Given the description of an element on the screen output the (x, y) to click on. 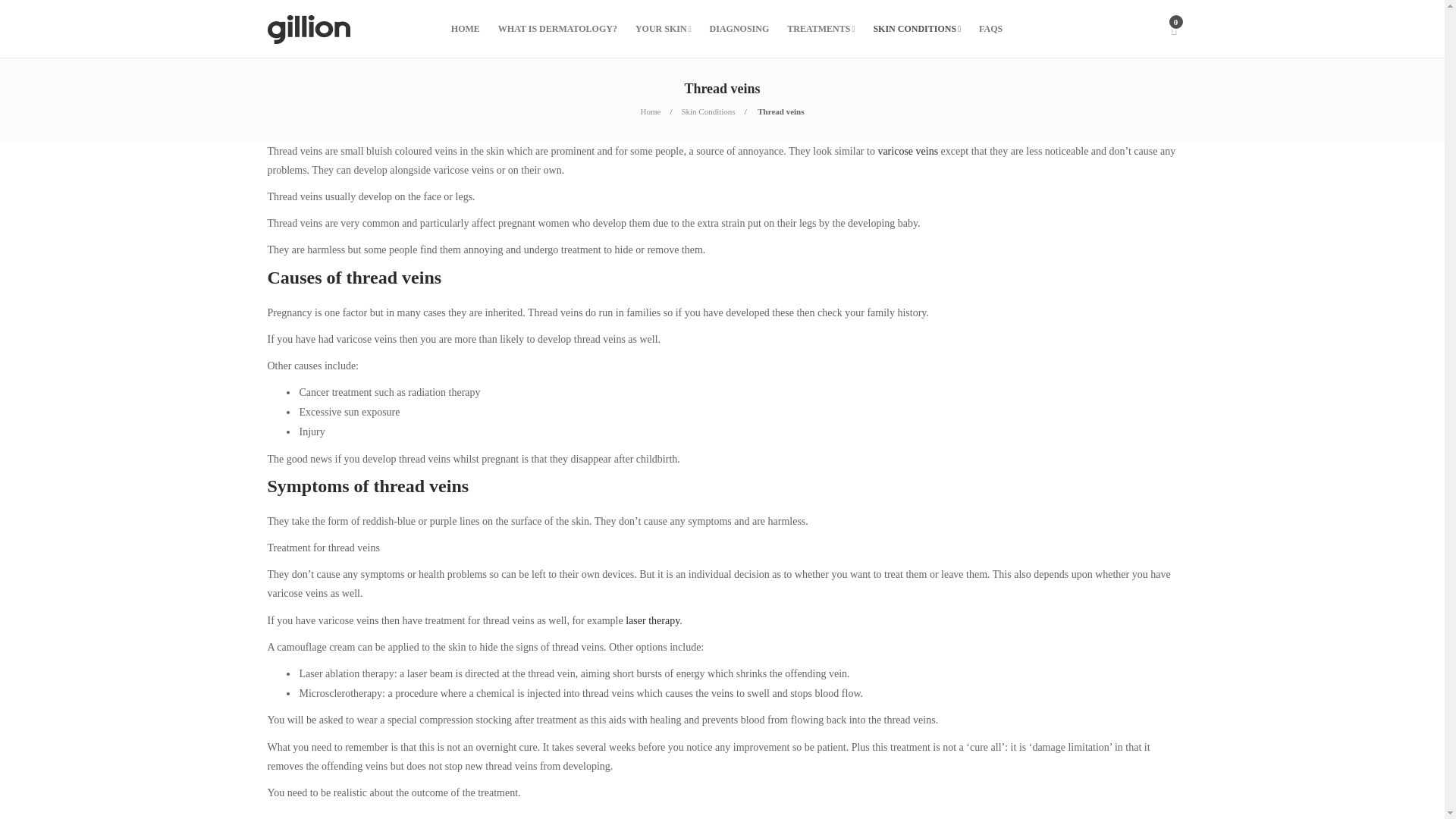
Home (650, 111)
Skin Conditions (708, 111)
Thread veins (780, 111)
